Given the description of an element on the screen output the (x, y) to click on. 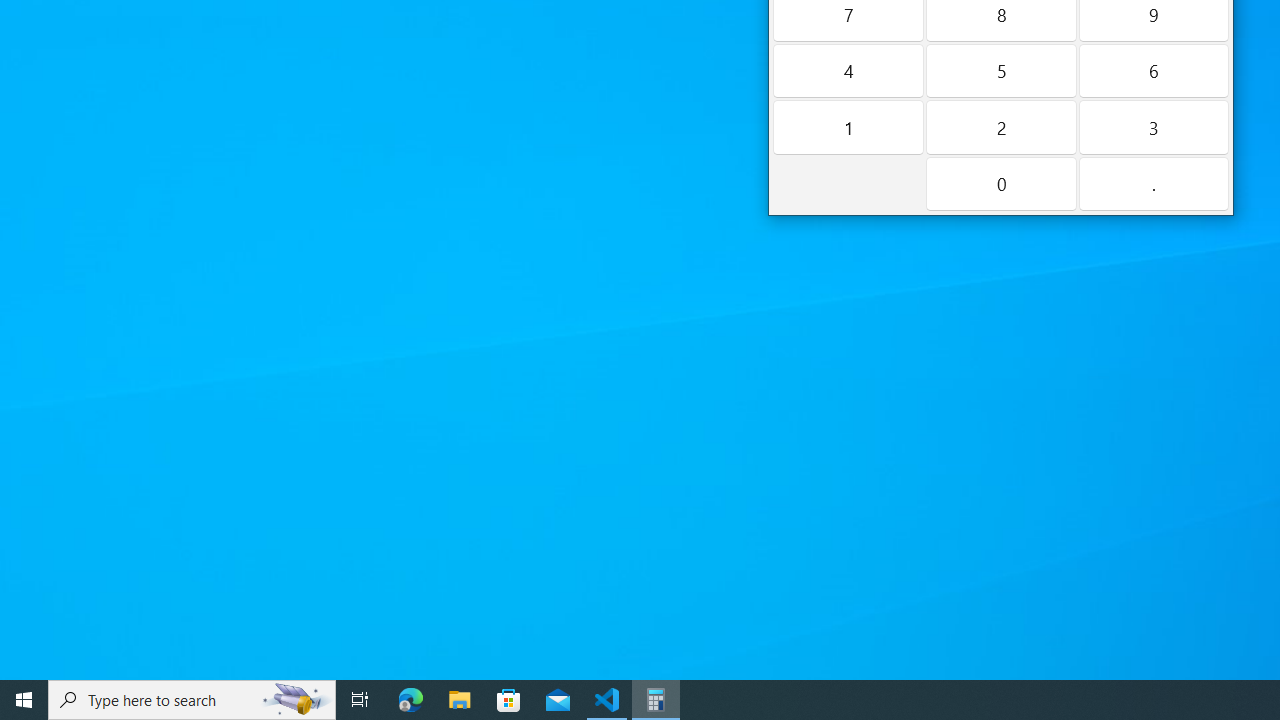
Task View (359, 699)
Zero (1000, 183)
Search highlights icon opens search home window (295, 699)
Six (1153, 70)
Visual Studio Code - 1 running window (607, 699)
Microsoft Store (509, 699)
Type here to search (191, 699)
Five (1000, 70)
Three (1153, 127)
Decimal separator (1153, 183)
Two (1000, 127)
File Explorer (460, 699)
Calculator - 1 running window (656, 699)
Microsoft Edge (411, 699)
